Given the description of an element on the screen output the (x, y) to click on. 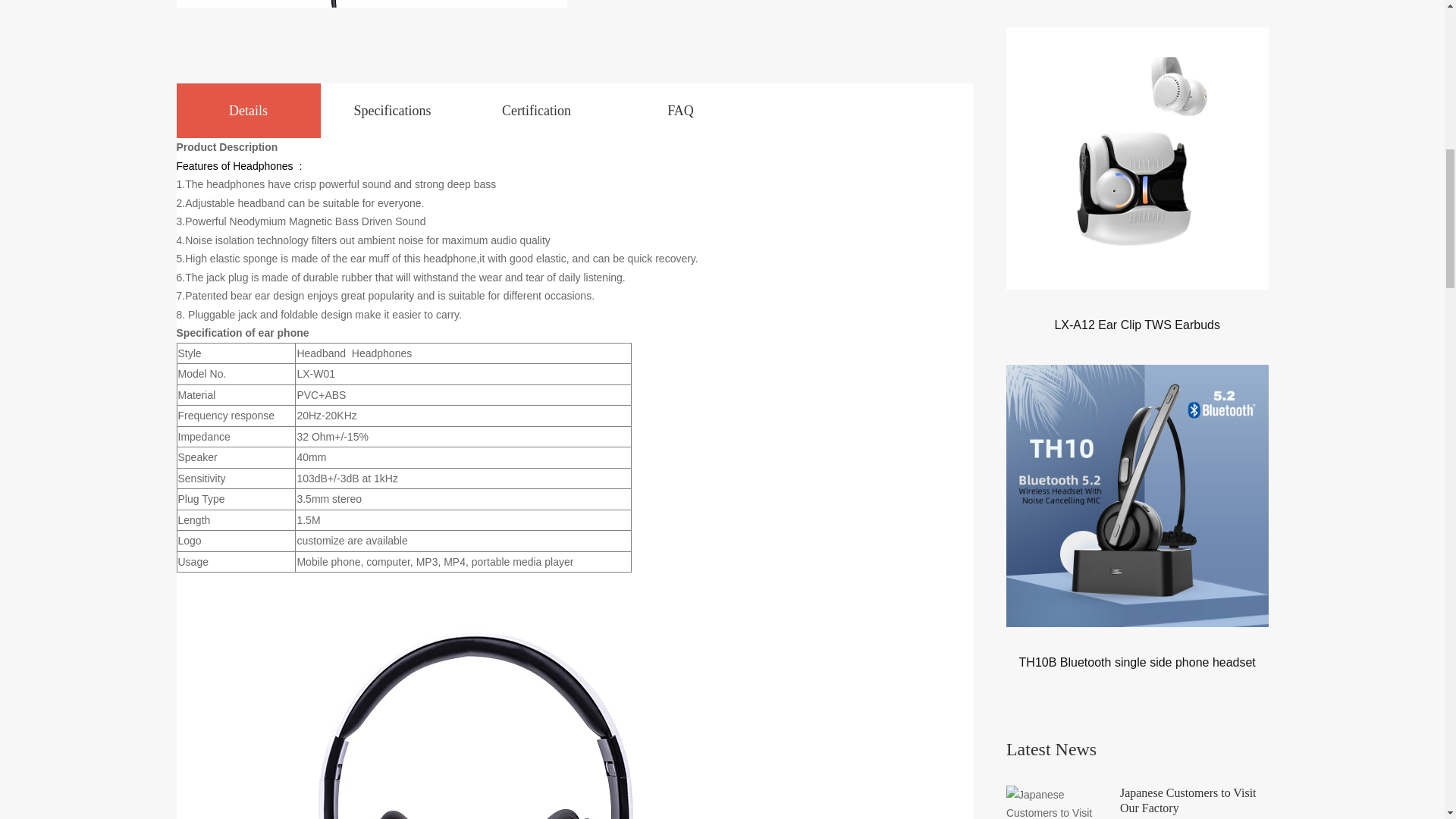
Japanese Customers to Visit Our Factory (1193, 801)
TH10B Bluetooth single side phone headset (1137, 661)
LX-A12 Ear Clip TWS Earbuds (1137, 324)
